Given the description of an element on the screen output the (x, y) to click on. 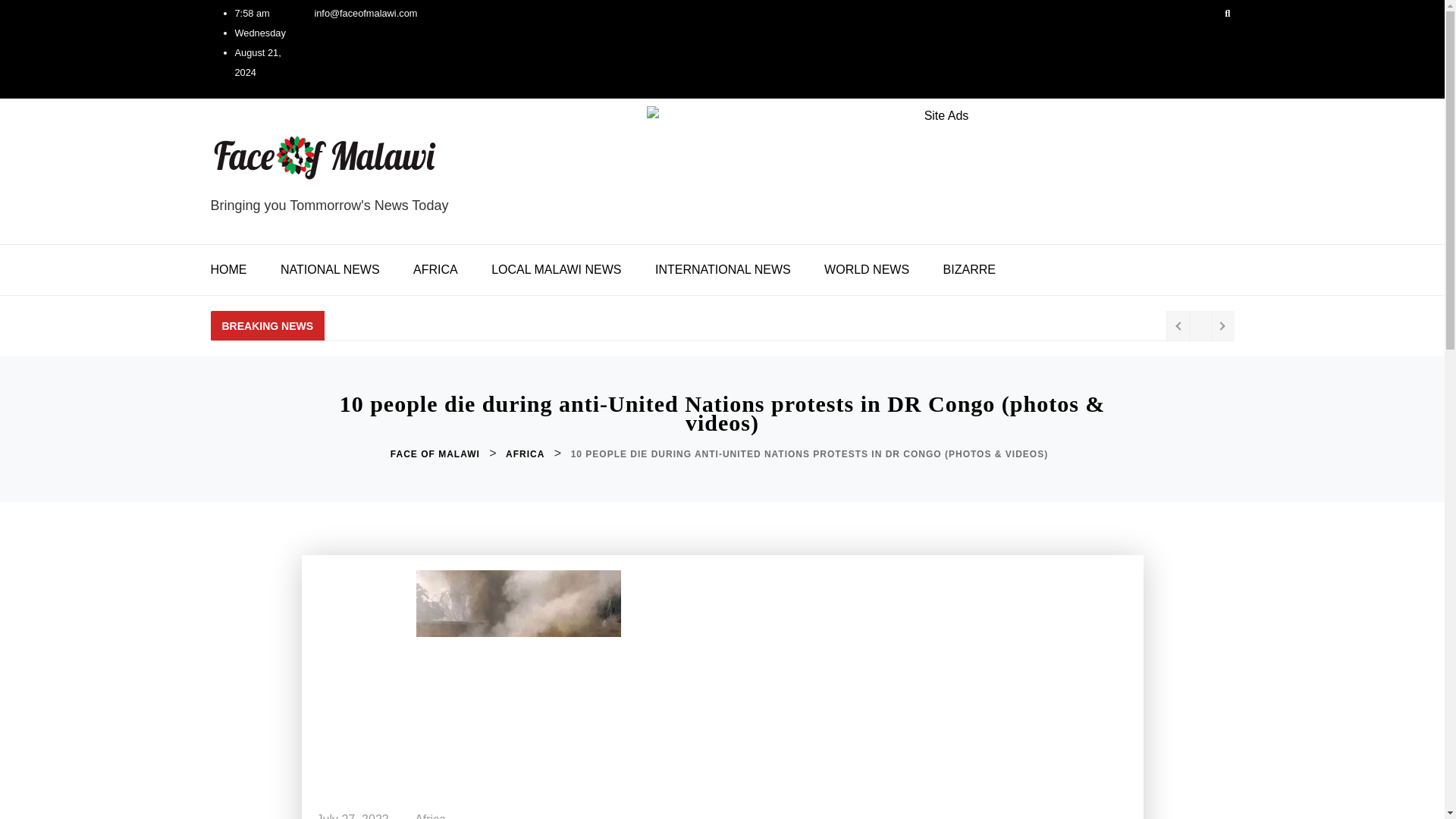
Go to Face of Malawi. (436, 454)
BIZARRE (969, 269)
FACE OF MALAWI (436, 454)
WORLD NEWS (866, 269)
AFRICA (526, 454)
INTERNATIONAL NEWS (723, 269)
AFRICA (435, 269)
Go to the Africa Category archives. (526, 454)
NATIONAL NEWS (329, 269)
July 27, 2022 (352, 814)
